Given the description of an element on the screen output the (x, y) to click on. 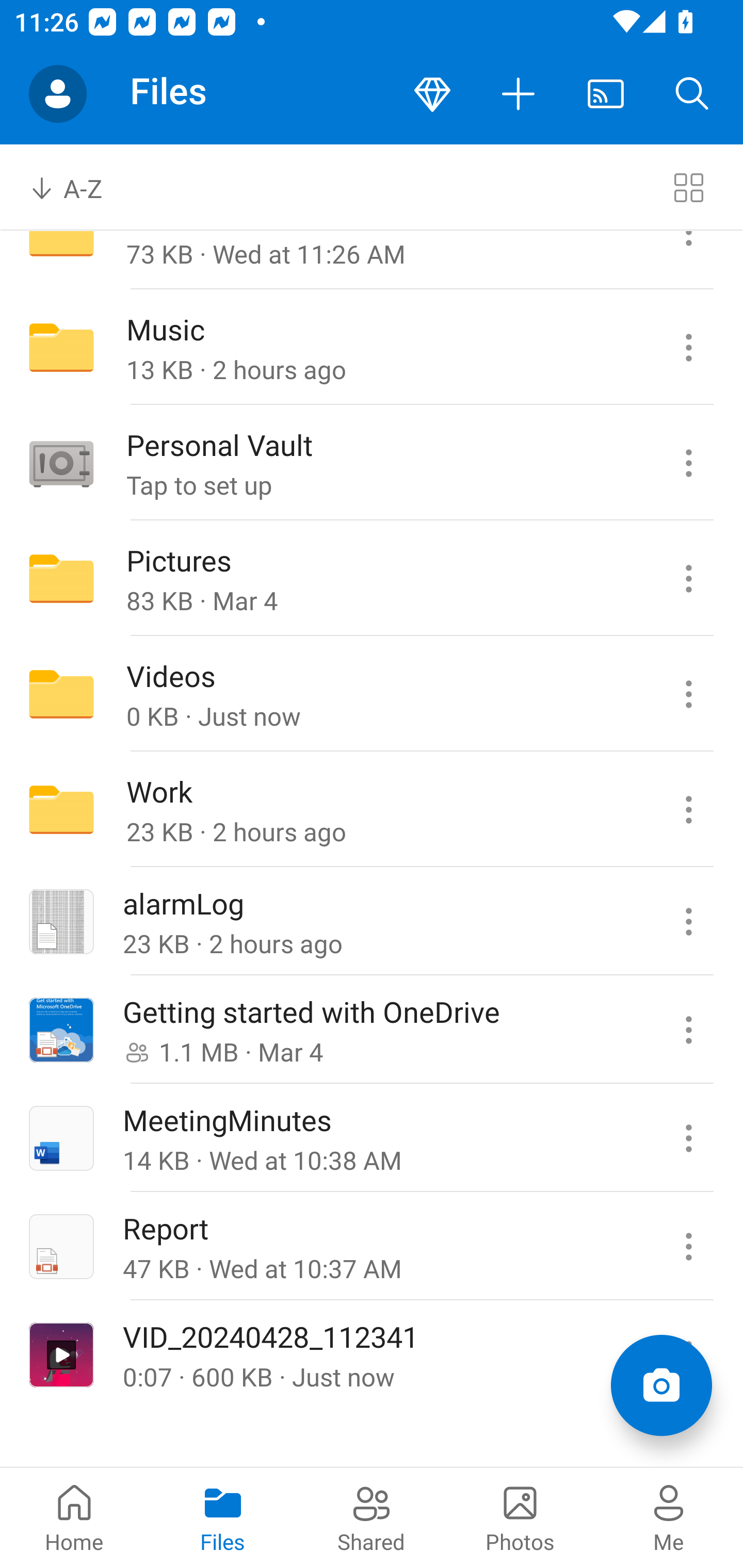
Account switcher (57, 93)
Cast. Disconnected (605, 93)
Premium button (432, 93)
More actions button (518, 93)
Search button (692, 93)
A-Z Sort by combo box, sort by name, A to Z (80, 187)
Switch to tiles view (688, 187)
Folder Music 13 KB · 2 hours ago Music commands (371, 348)
Music commands (688, 348)
Personal Vault commands (688, 463)
Folder Pictures 83 KB · Mar 4 Pictures commands (371, 578)
Pictures commands (688, 578)
Folder Videos 0 KB · Just now Videos commands (371, 694)
Videos commands (688, 694)
Folder Work 23 KB · 2 hours ago Work commands (371, 809)
Work commands (688, 809)
alarmLog commands (688, 921)
Getting started with OneDrive commands (688, 1029)
MeetingMinutes commands (688, 1138)
Report commands (688, 1247)
Add items Scan (660, 1385)
Home pivot Home (74, 1517)
Shared pivot Shared (371, 1517)
Photos pivot Photos (519, 1517)
Me pivot Me (668, 1517)
